Given the description of an element on the screen output the (x, y) to click on. 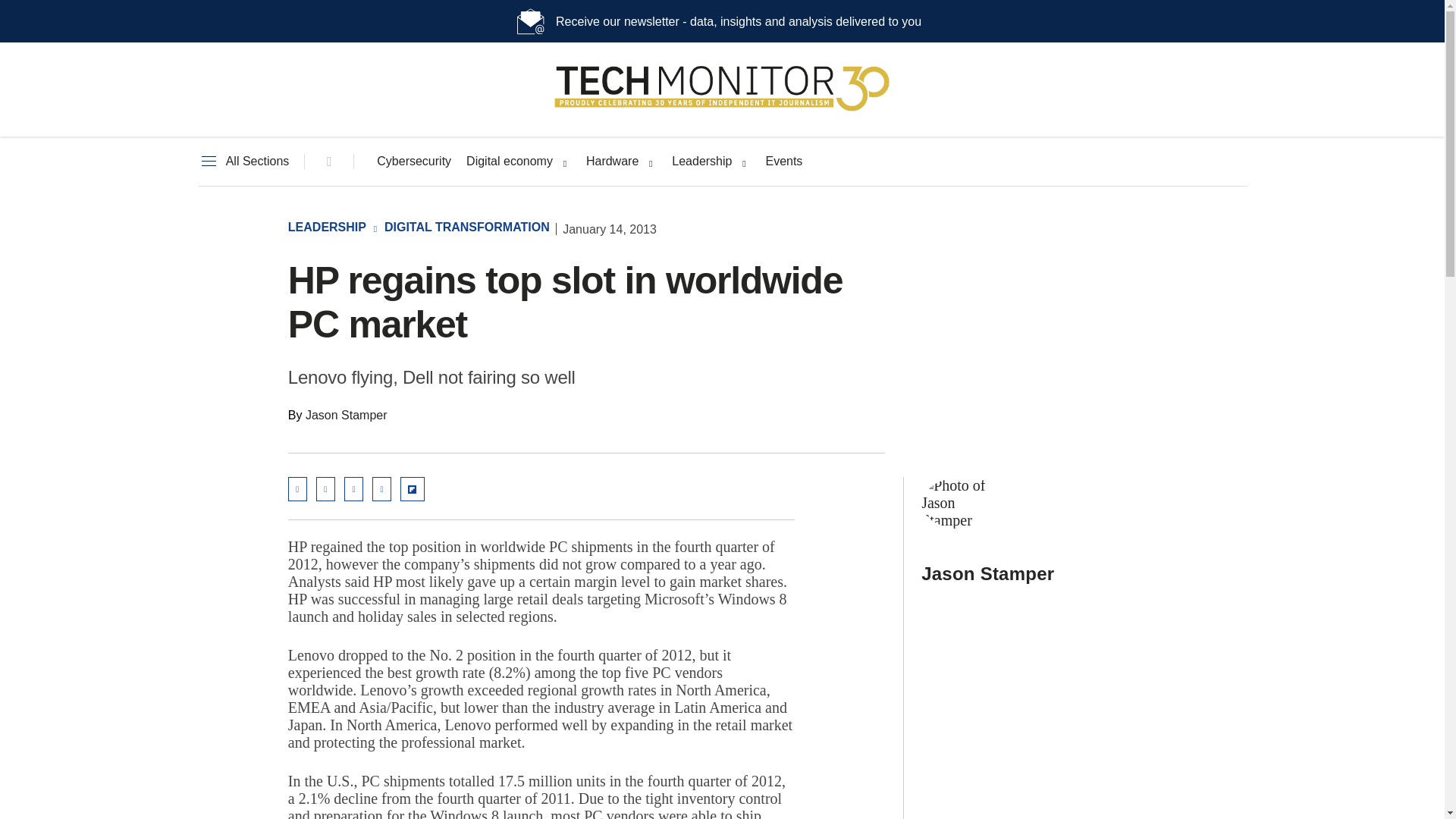
All Sections (242, 161)
Hardware (612, 161)
Tech Monitor (722, 110)
Leadership (701, 161)
Digital economy (509, 161)
Share on Flipboard (412, 488)
Cybersecurity (414, 161)
Events (783, 161)
